Given the description of an element on the screen output the (x, y) to click on. 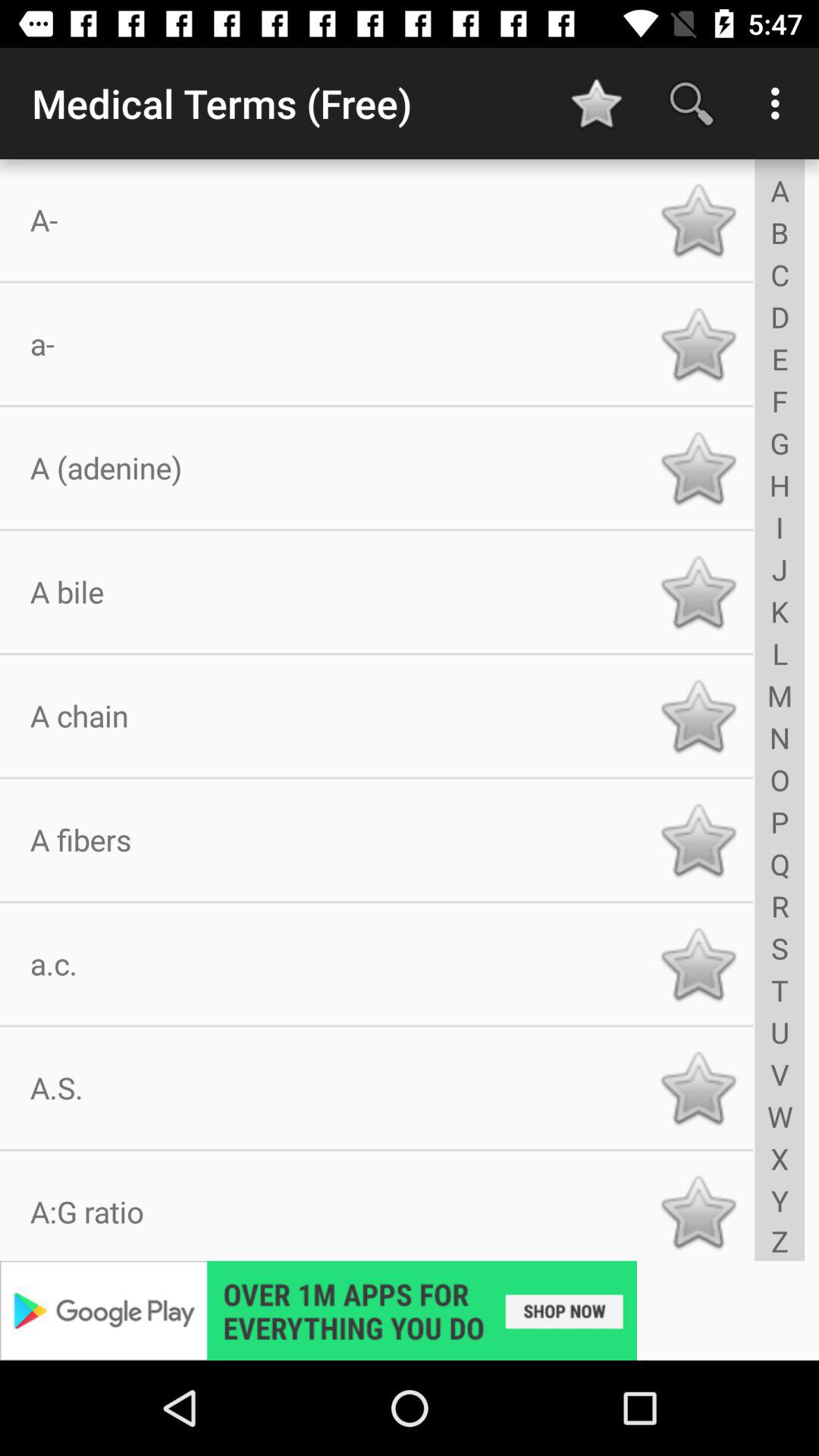
favorite (697, 839)
